Given the description of an element on the screen output the (x, y) to click on. 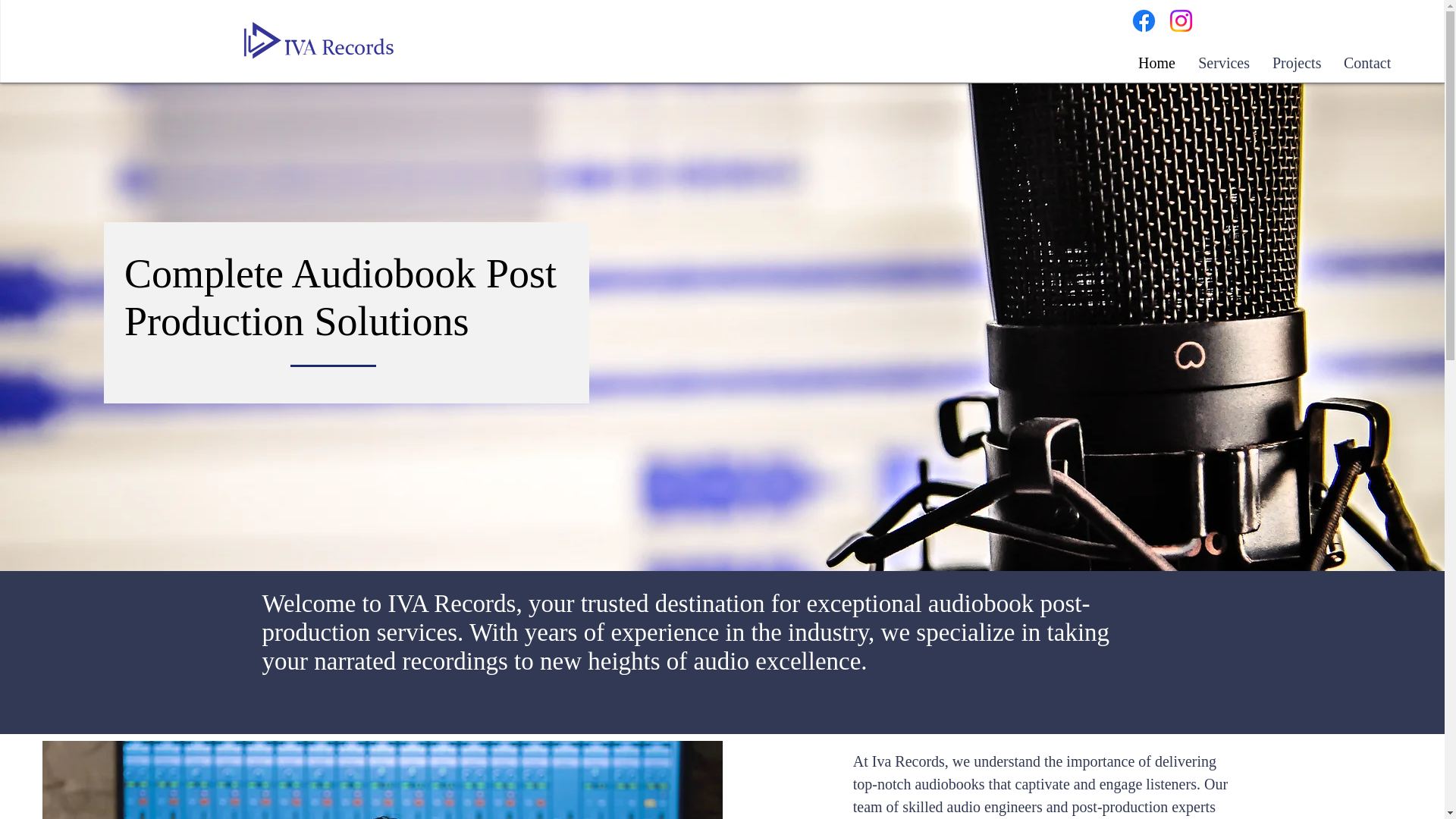
Services (1223, 62)
Contact (1367, 62)
Projects (1296, 62)
Logo final.png (322, 49)
Home (1156, 62)
